Given the description of an element on the screen output the (x, y) to click on. 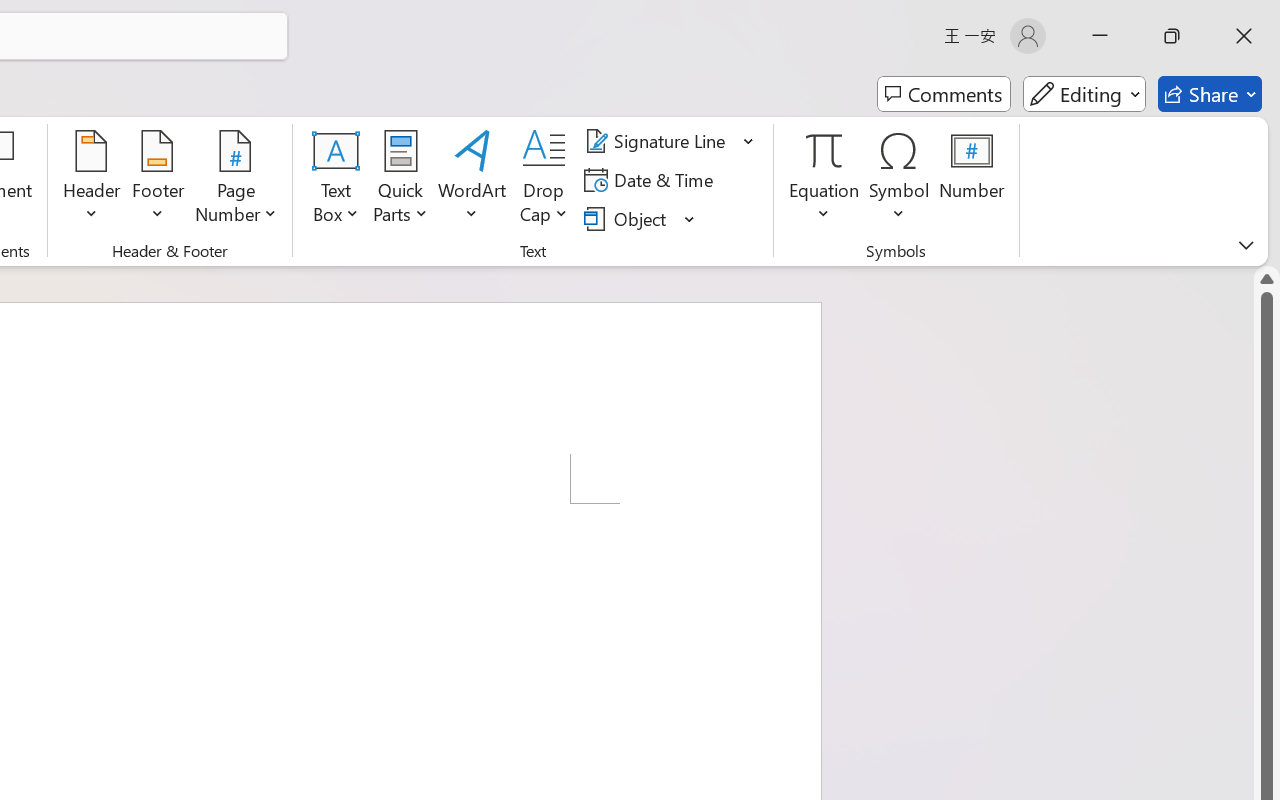
Equation (823, 150)
Restore Down (1172, 36)
Ribbon Display Options (1246, 245)
Page Number (236, 179)
Share (1210, 94)
Signature Line (669, 141)
Mode (1083, 94)
Object... (640, 218)
Text Box (335, 179)
Number... (971, 179)
Minimize (1099, 36)
Object... (628, 218)
More Options (823, 206)
Header (92, 179)
Date & Time... (651, 179)
